Given the description of an element on the screen output the (x, y) to click on. 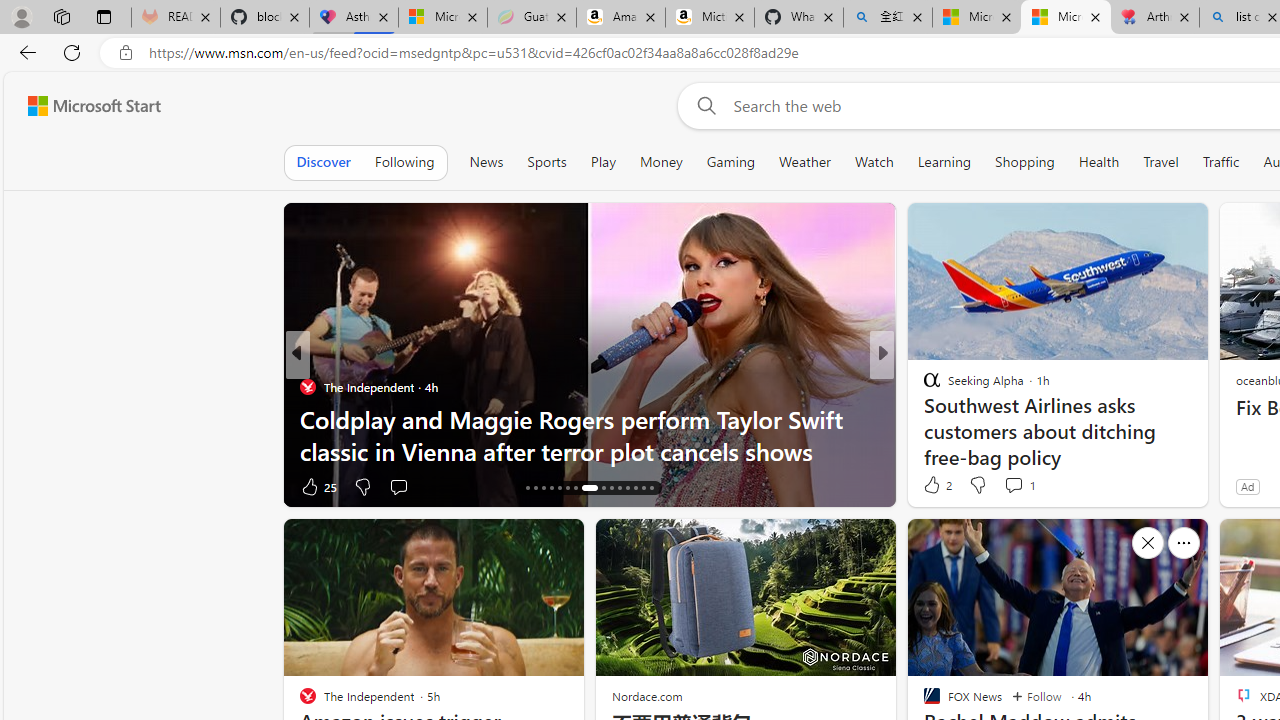
Health (1099, 161)
Discover (323, 161)
71 Like (317, 486)
Learning (944, 161)
Skip to footer (82, 105)
Travel (1160, 161)
Asthma Inhalers: Names and Types (353, 17)
View comments 3 Comment (1019, 486)
Ad (1247, 486)
Shopping (1025, 162)
Allrecipes (923, 386)
AutomationID: tab-22 (574, 487)
AutomationID: tab-20 (559, 487)
Follow (1036, 696)
